Given the description of an element on the screen output the (x, y) to click on. 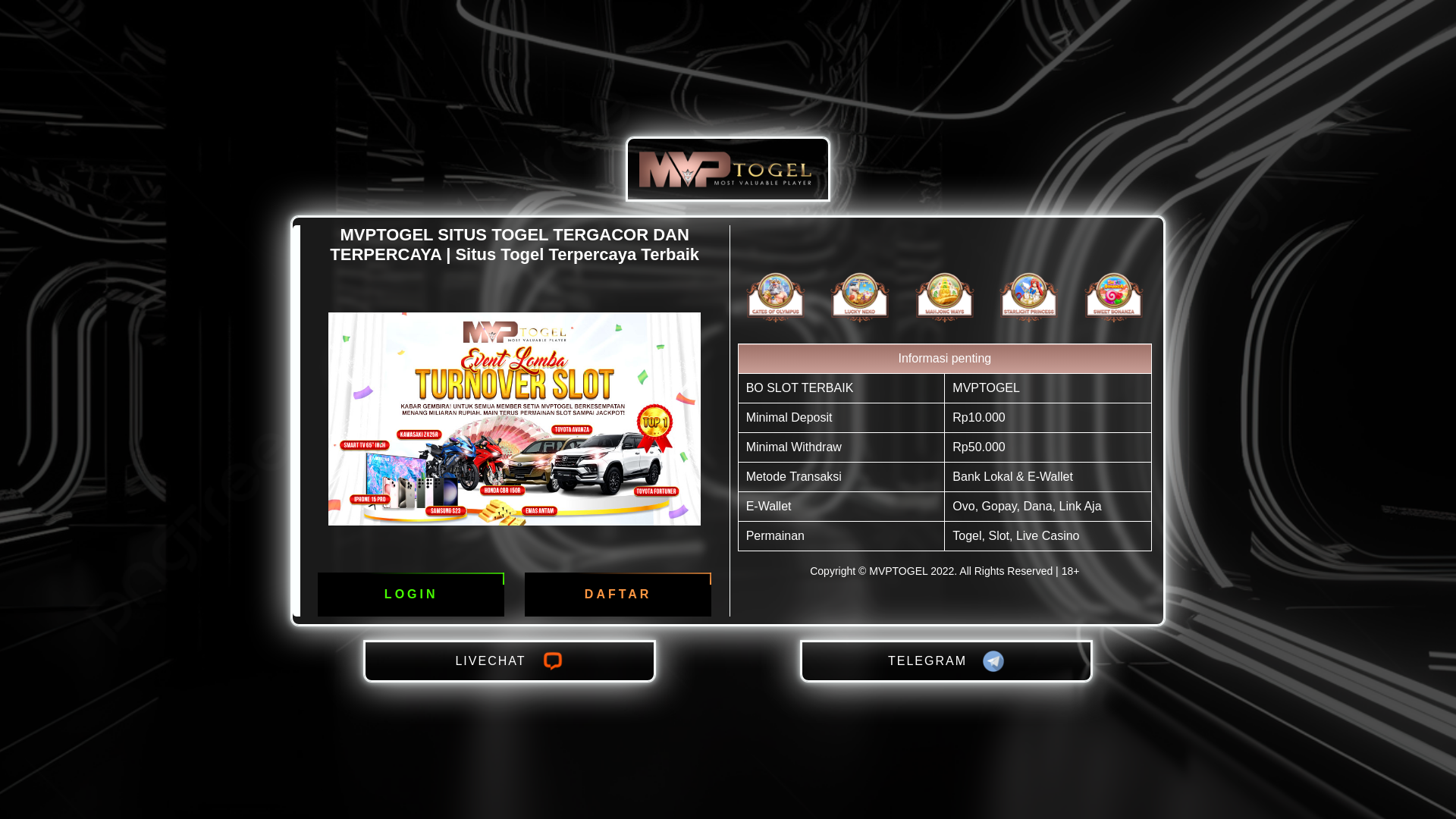
TELEGRAM Element type: text (946, 660)
LIVECHAT Element type: text (509, 660)
DAFTAR Element type: text (617, 594)
LOGIN Element type: text (410, 594)
